Given the description of an element on the screen output the (x, y) to click on. 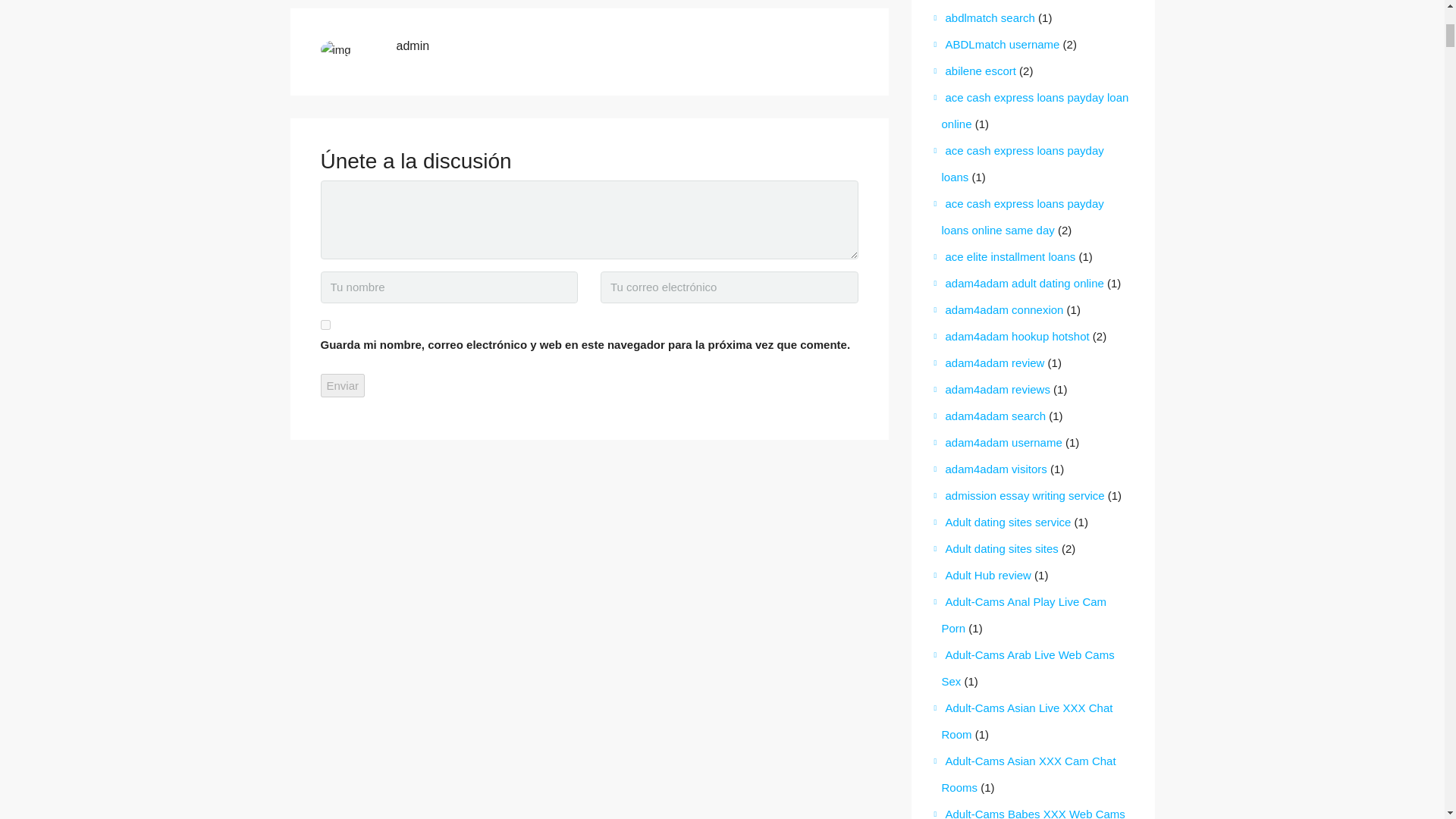
Enviar (342, 385)
yes (325, 325)
Enviar (342, 385)
